Given the description of an element on the screen output the (x, y) to click on. 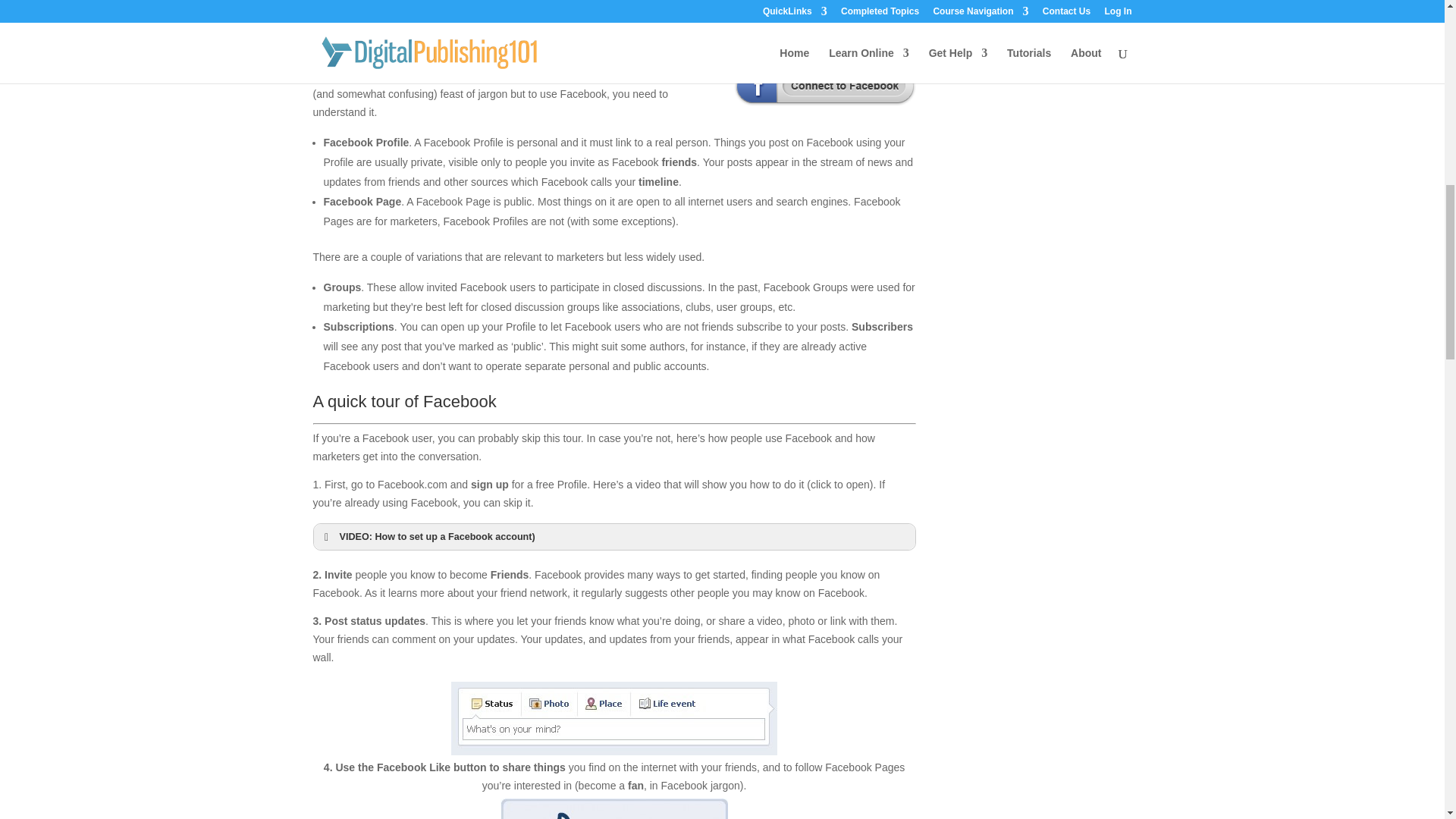
Leadformix Martoons (626, 8)
